Given the description of an element on the screen output the (x, y) to click on. 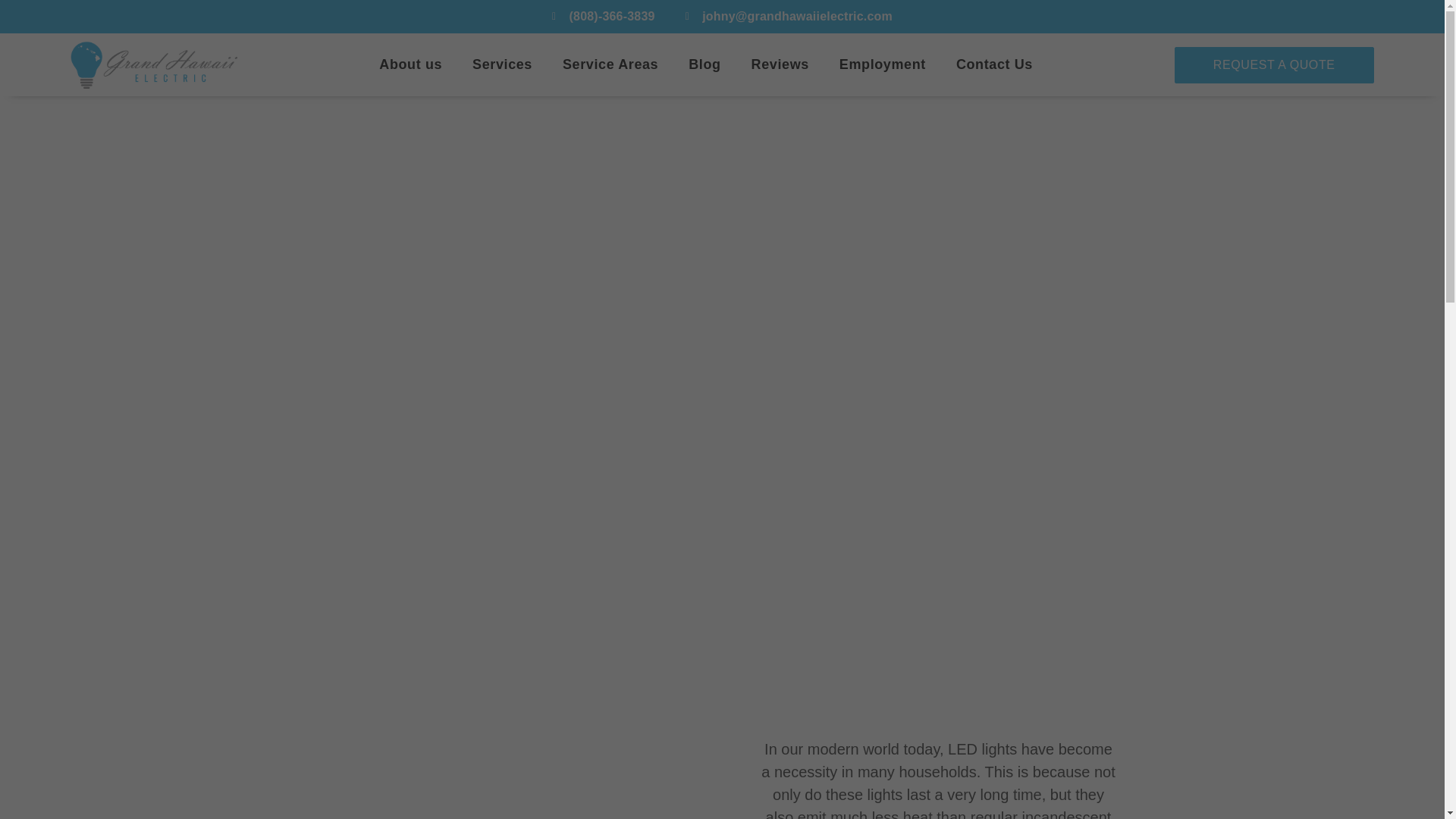
About us (410, 64)
Services (502, 64)
Blog (703, 64)
REQUEST A QUOTE (1274, 64)
Service Areas (609, 64)
Employment (882, 64)
Reviews (780, 64)
Contact Us (994, 64)
